Given the description of an element on the screen output the (x, y) to click on. 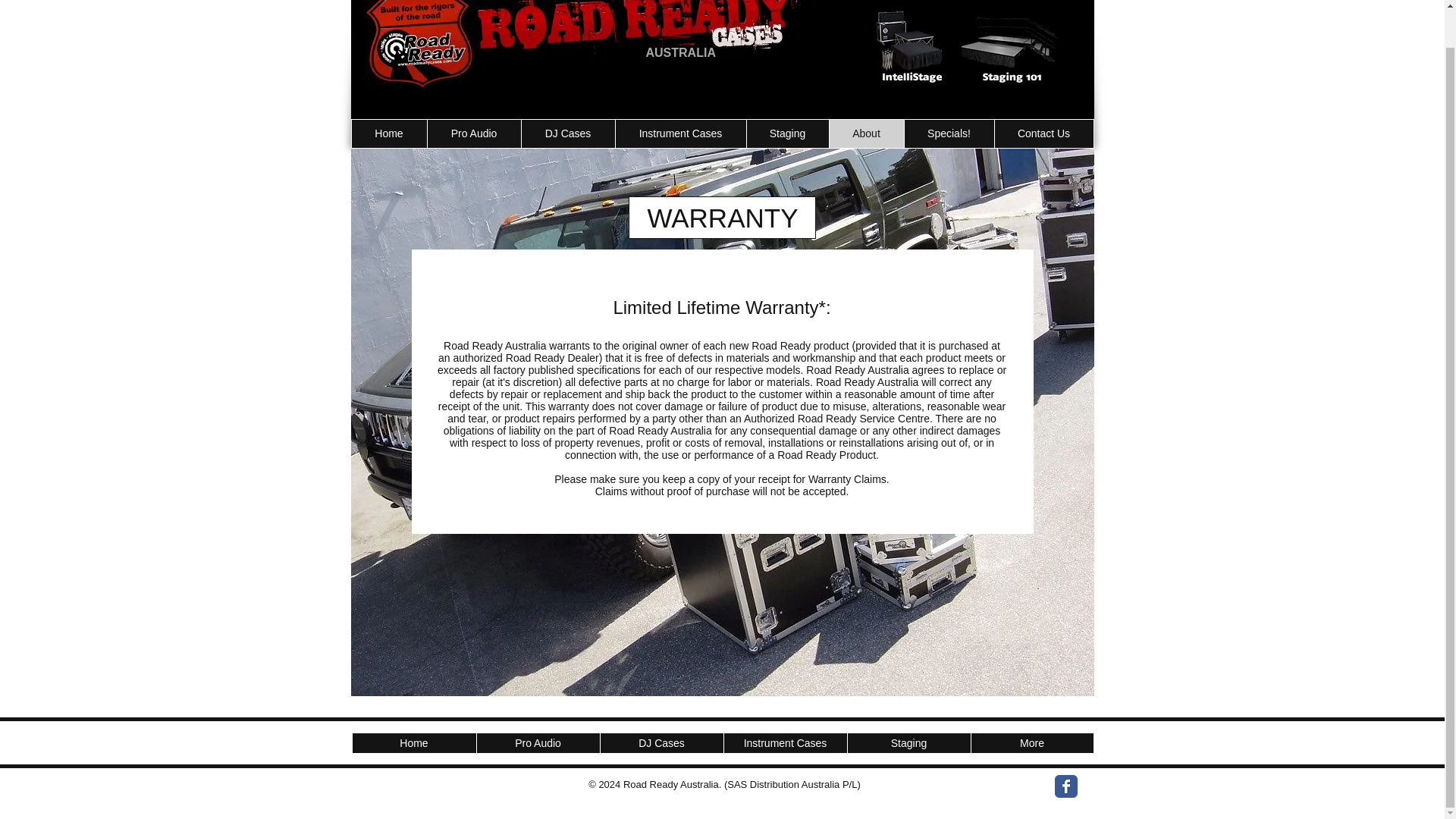
Intellistage Stage Systems Australia (910, 46)
Pro Audio (537, 742)
Home (389, 133)
Road Ready Cases Australia (580, 43)
About (865, 133)
Home (414, 742)
Staging 101 Stage Systems Australia (1010, 46)
Pro Audio (472, 133)
DJ Cases (566, 133)
